Given the description of an element on the screen output the (x, y) to click on. 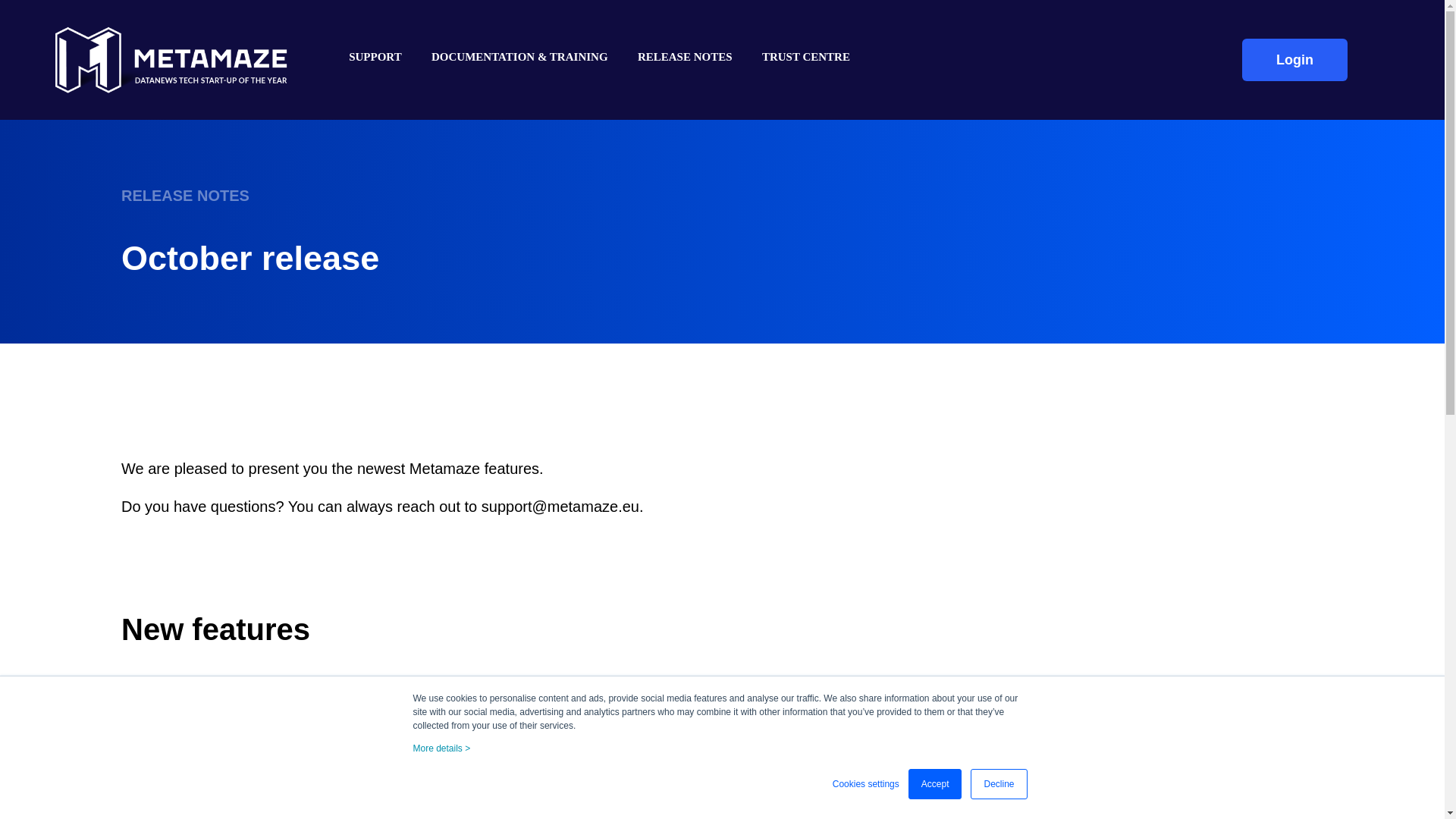
Login (1294, 59)
Cookies settings (865, 784)
Decline (998, 784)
RELEASE NOTES (684, 57)
Accept (935, 784)
TRUST CENTRE (798, 57)
SUPPORT (382, 57)
